Given the description of an element on the screen output the (x, y) to click on. 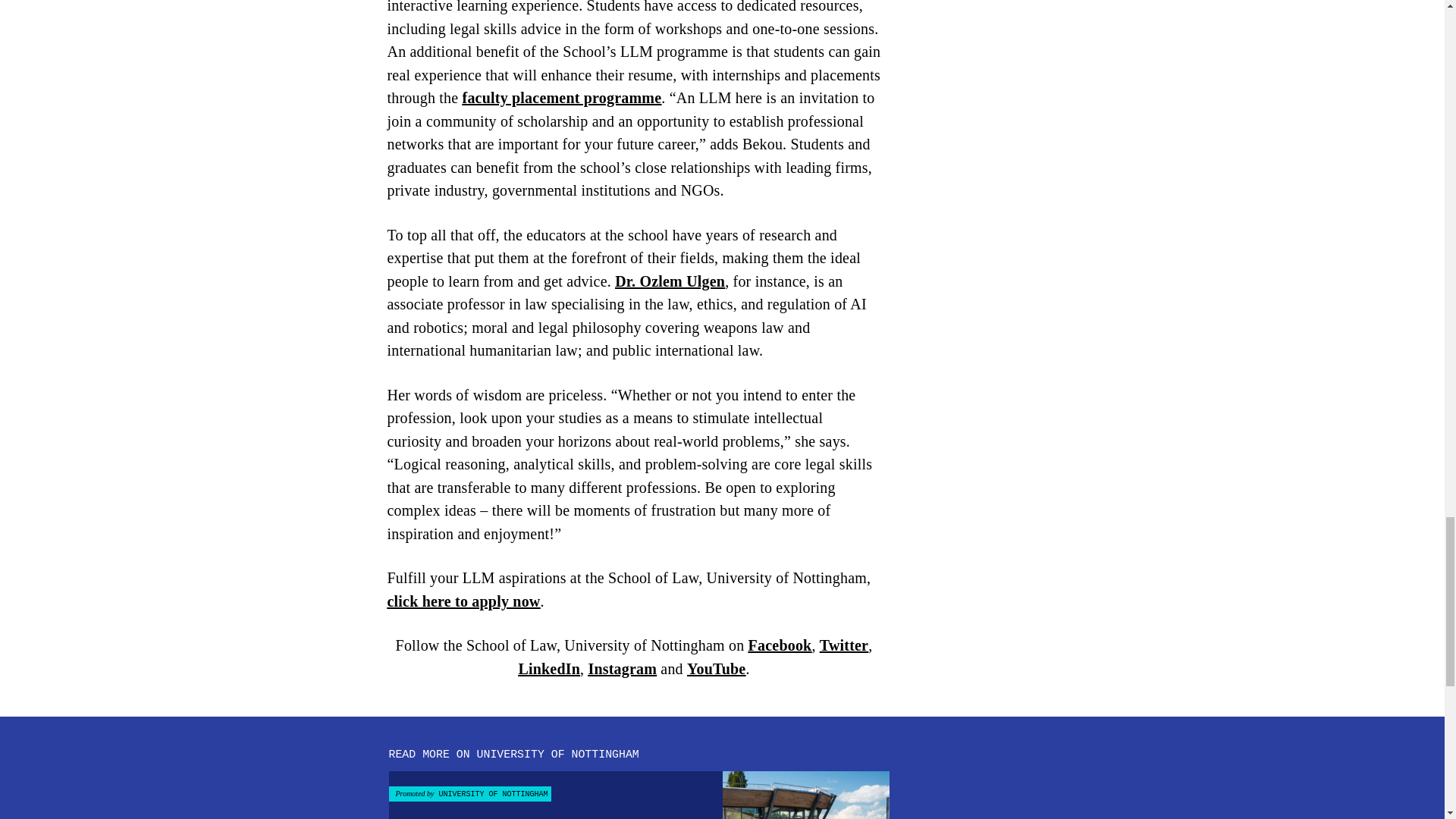
Dr. Ozlem Ulgen (669, 280)
click here to apply now (463, 600)
Facebook (780, 645)
YouTube (716, 668)
Twitter (843, 645)
LinkedIn (548, 668)
faculty placement programme (562, 97)
Instagram (622, 668)
